Given the description of an element on the screen output the (x, y) to click on. 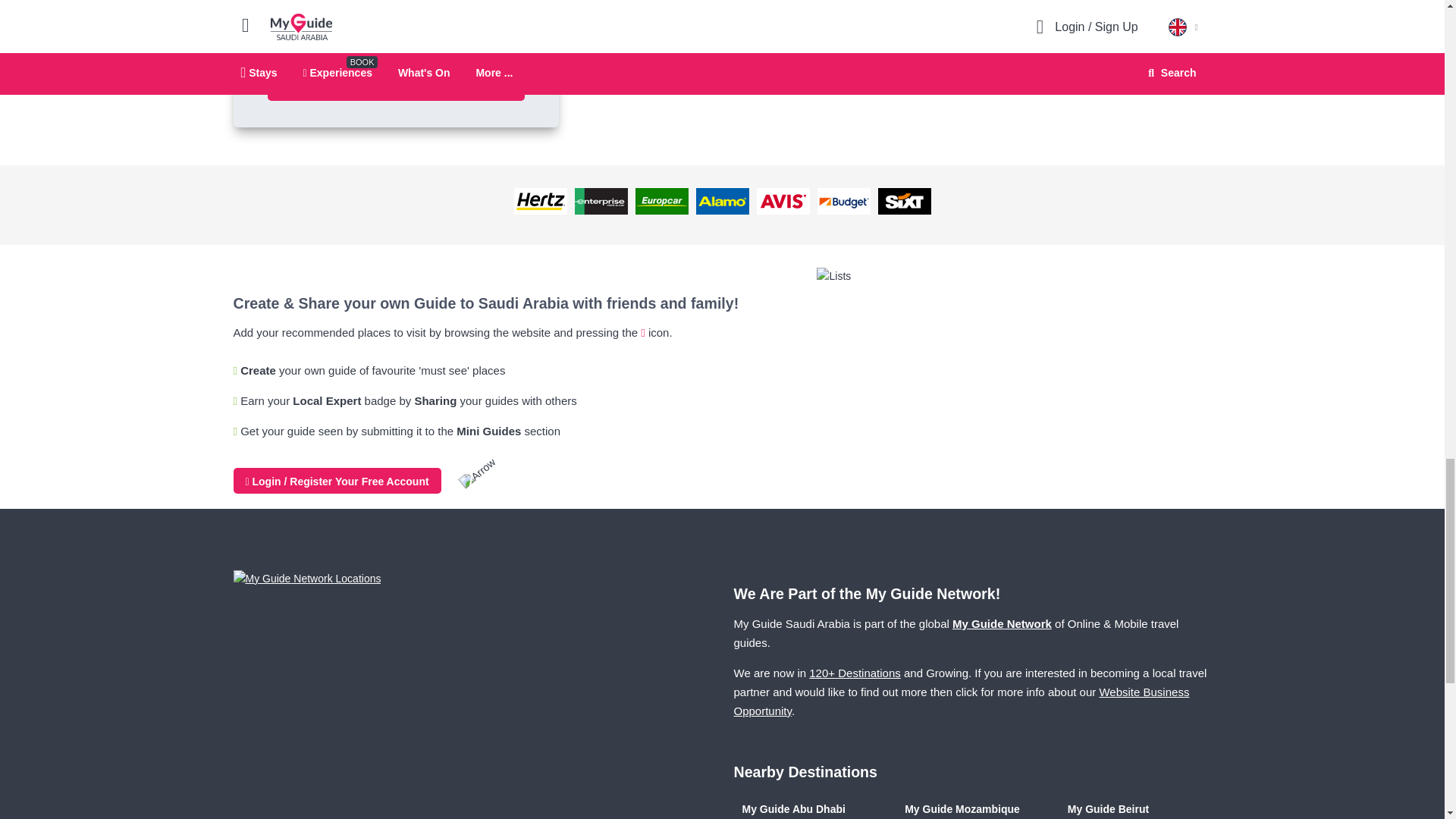
on (271, 41)
